Given the description of an element on the screen output the (x, y) to click on. 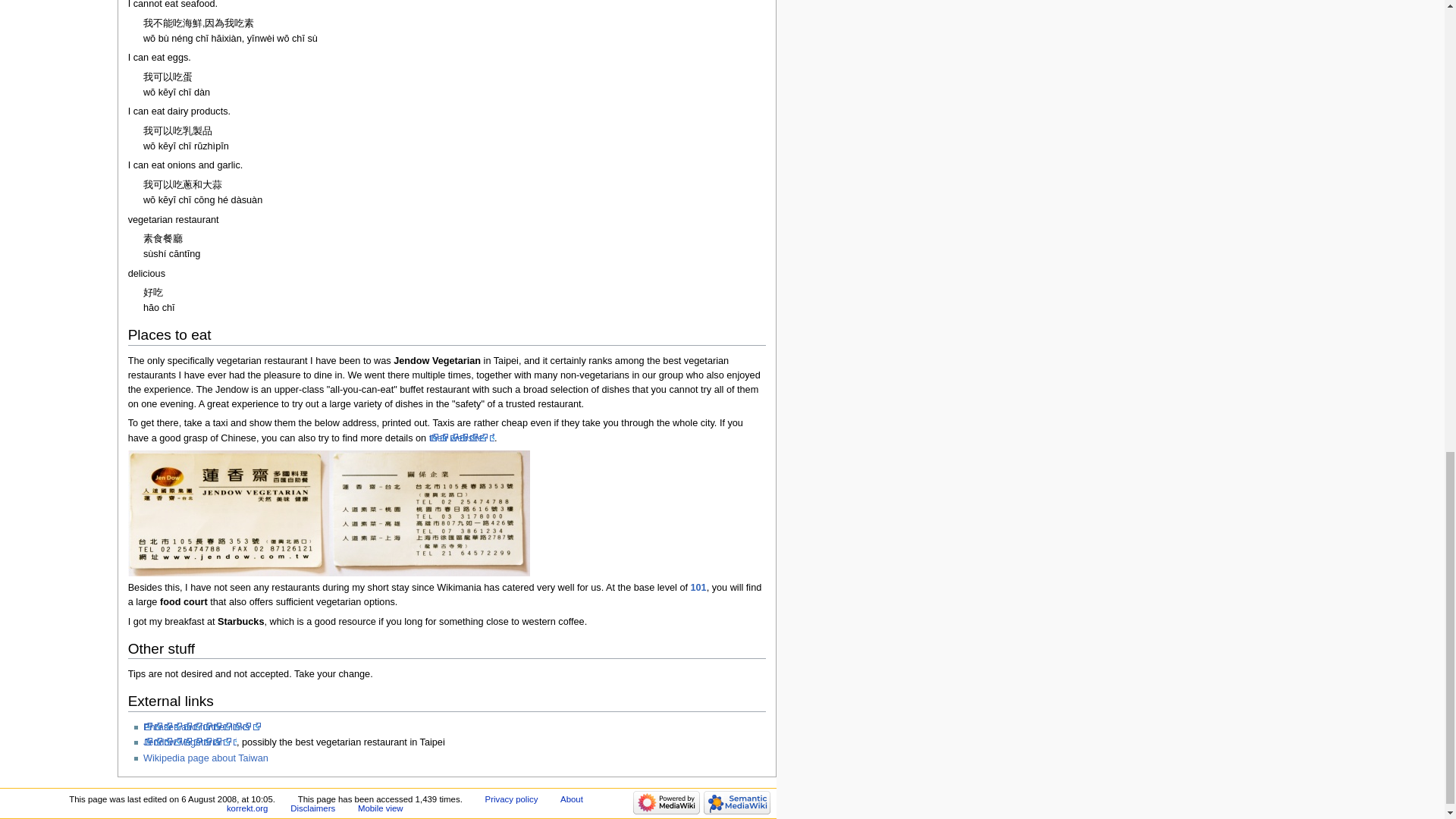
101 (698, 587)
Phrases and further links (201, 726)
wikipedia:Republic of China (204, 757)
wikipedia:Taipei 101 (698, 587)
Wikipedia page about Taiwan (204, 757)
Jendow Vegetarian (188, 742)
their website (462, 438)
